Given the description of an element on the screen output the (x, y) to click on. 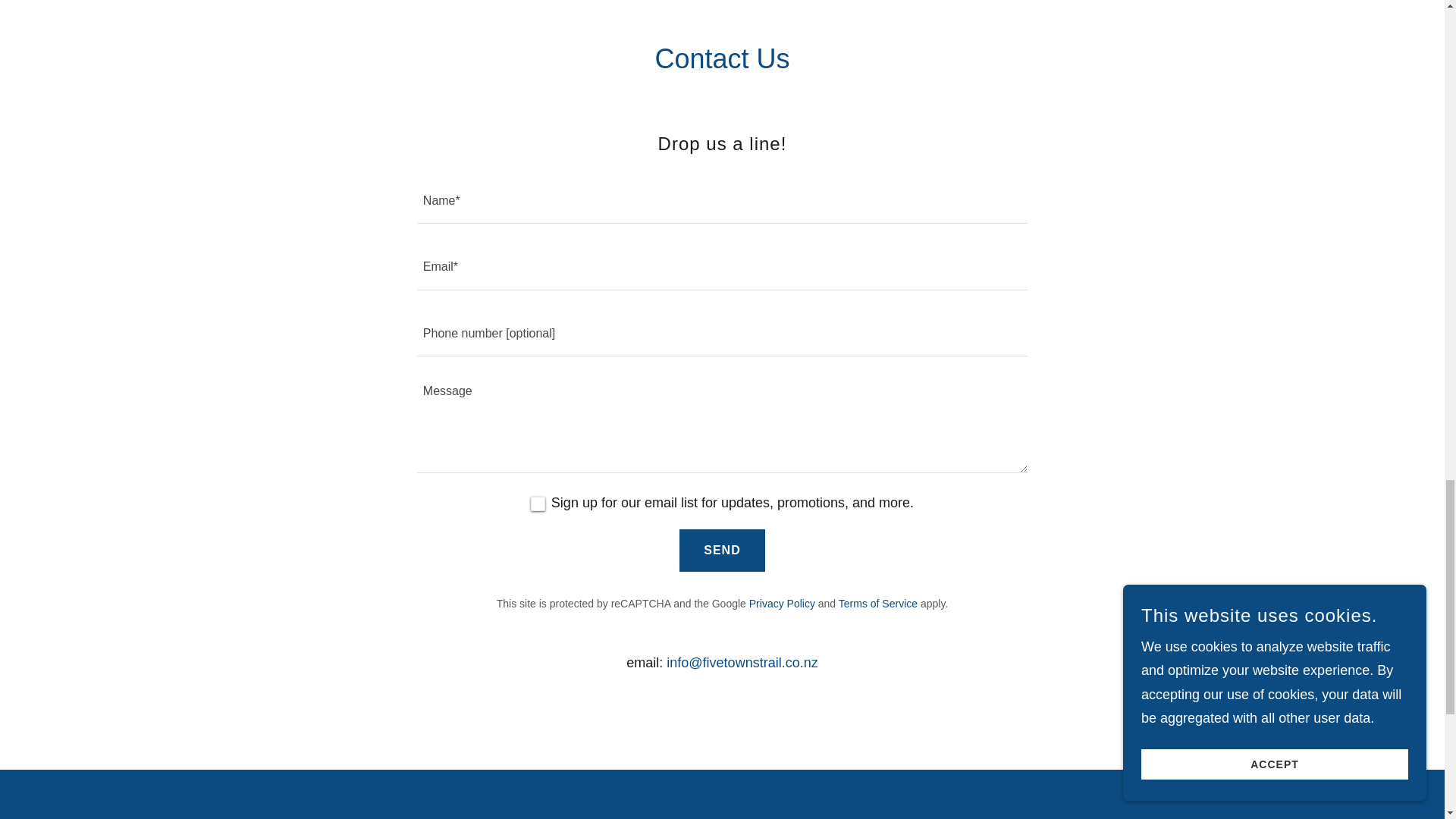
Terms of Service (877, 603)
Privacy Policy (782, 603)
SEND (721, 550)
